Given the description of an element on the screen output the (x, y) to click on. 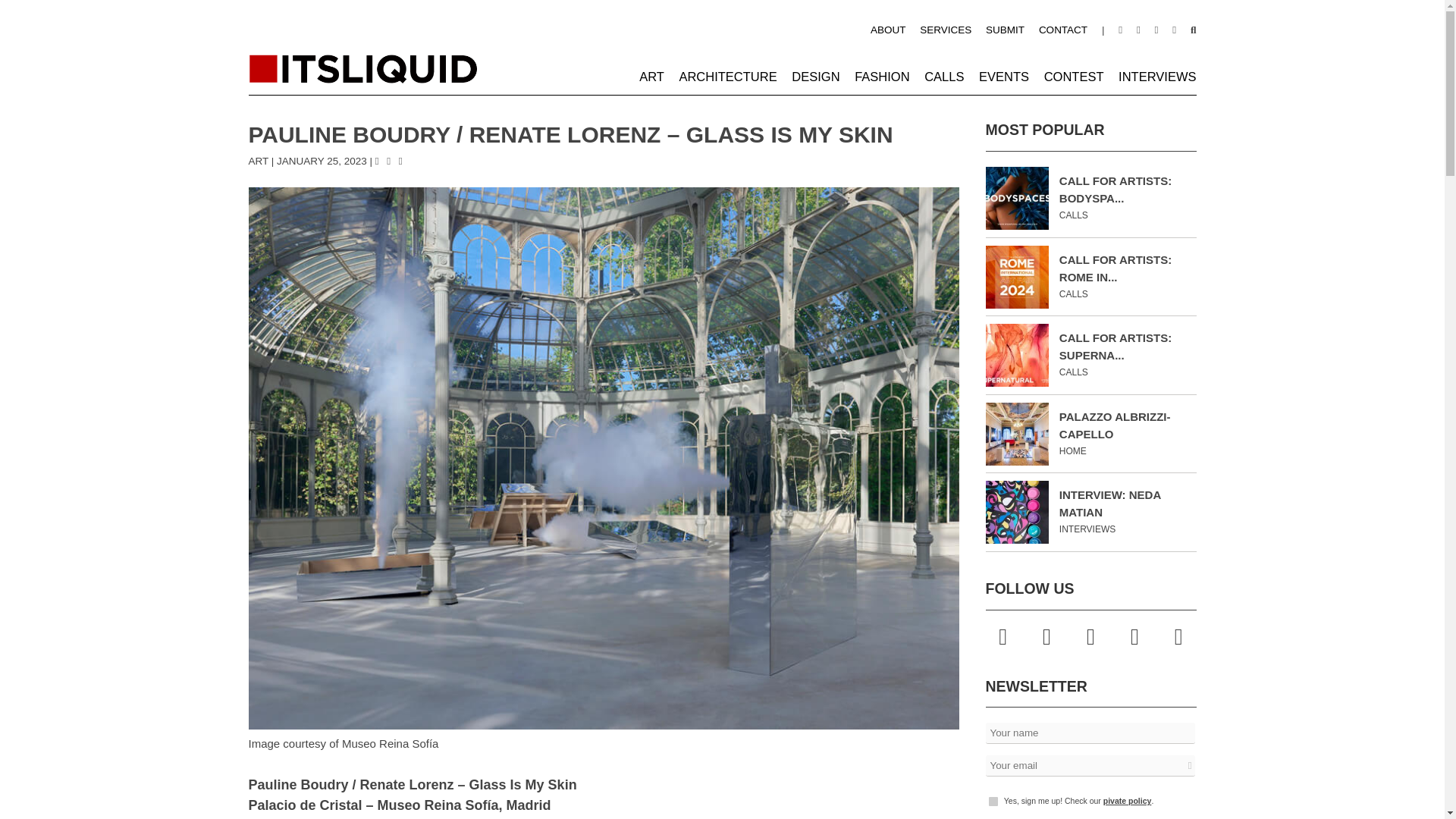
SERVICES (945, 30)
ABOUT (887, 30)
CONTACT (1063, 30)
FASHION (881, 76)
ART (258, 161)
INTERVIEW: NEDA MATIAN (1109, 503)
ARCHITECTURE (727, 76)
ART (651, 76)
INTERVIEWS (1156, 76)
CONTEST (1073, 76)
